Given the description of an element on the screen output the (x, y) to click on. 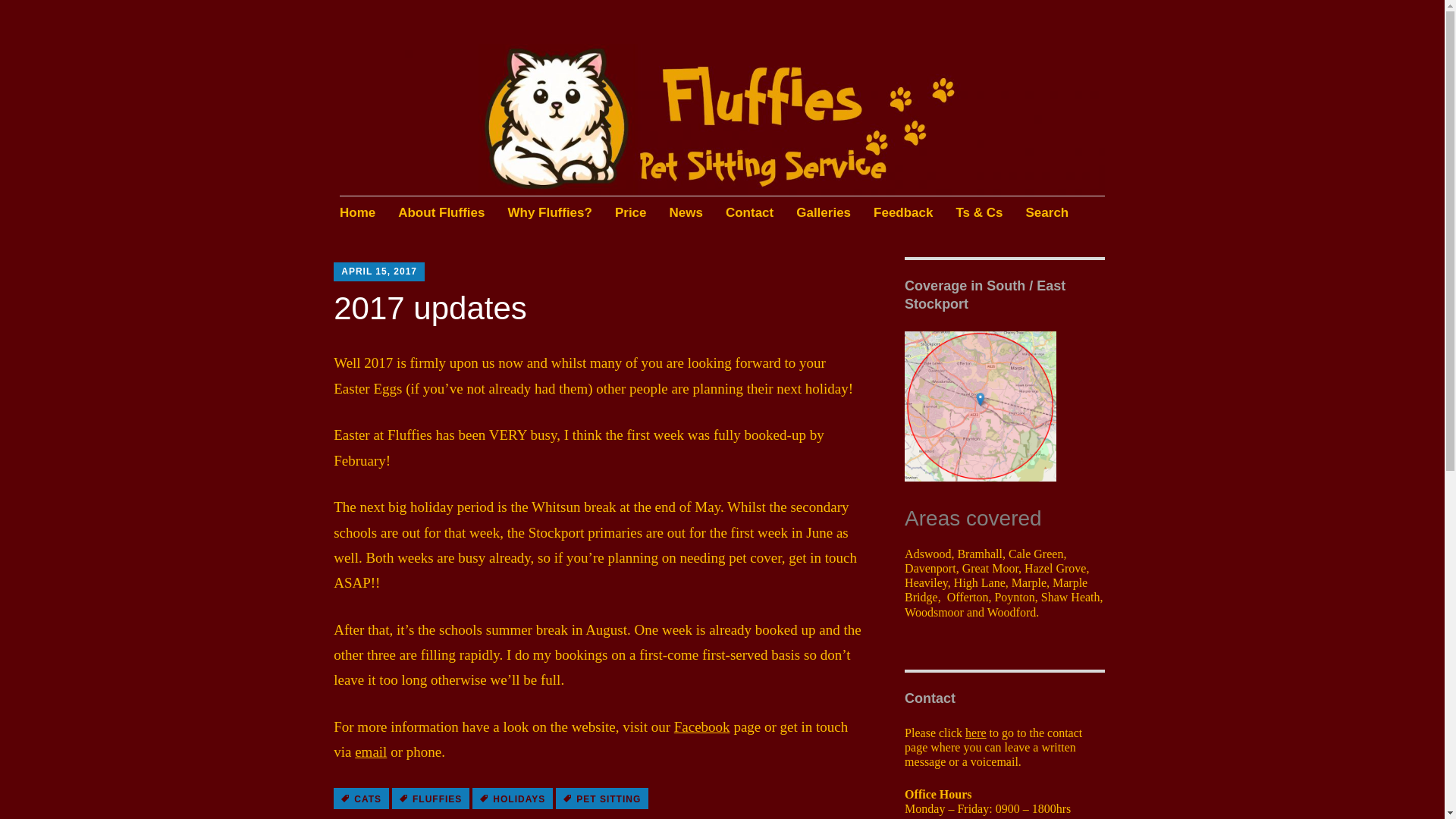
FLUFFIES (429, 798)
Home (357, 214)
email (371, 751)
Fluffies Pet Sitting Service (529, 100)
PET SITTING (601, 798)
Galleries (823, 214)
HOLIDAYS (512, 798)
Facebook (702, 726)
About Fluffies (440, 214)
CATS (360, 798)
Why Fluffies? (548, 214)
Contact (749, 214)
Search (1047, 214)
Feedback (903, 214)
here (976, 732)
